Given the description of an element on the screen output the (x, y) to click on. 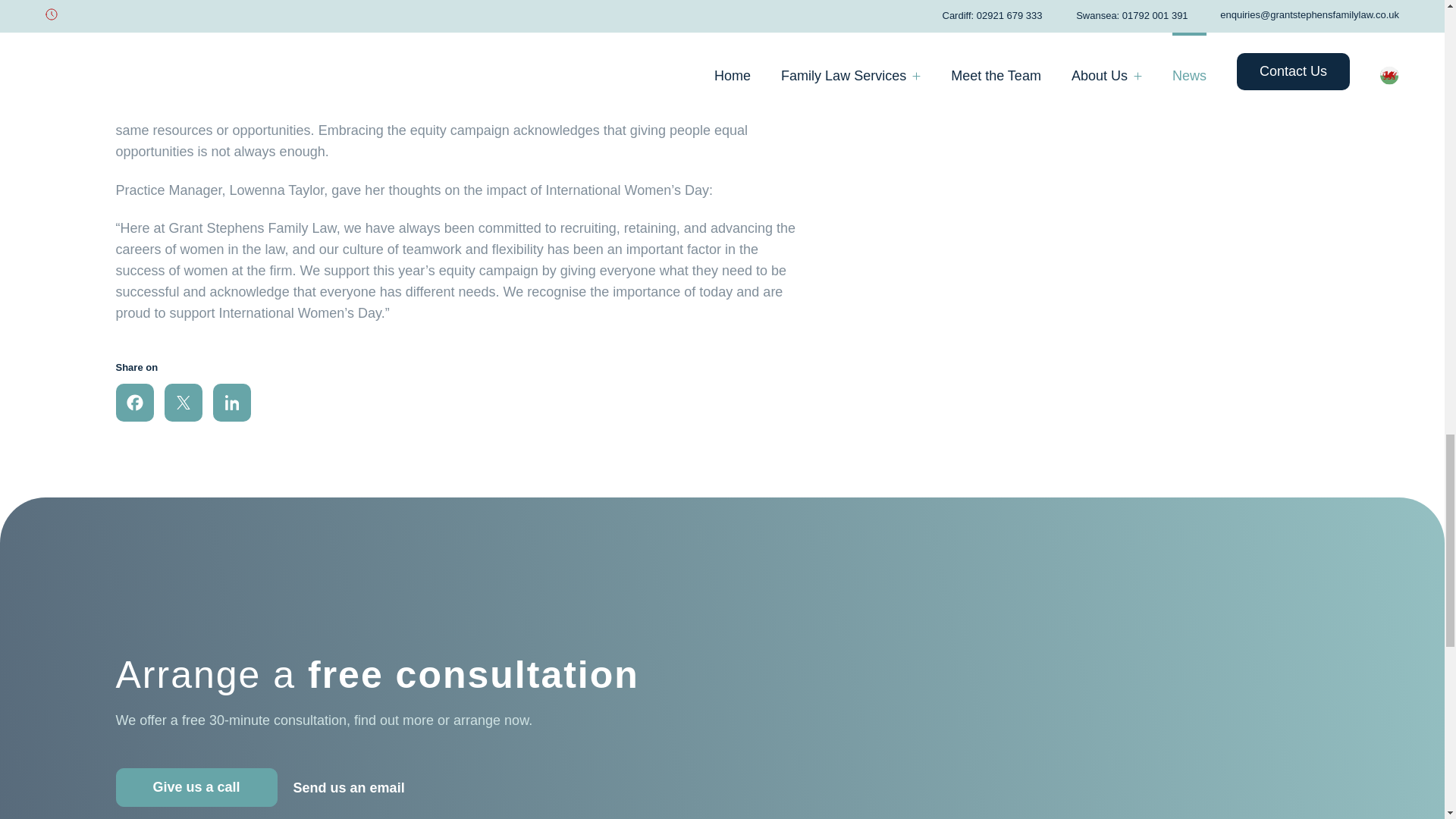
Share on Facebook (133, 402)
Share on LinkedIn (231, 402)
Share on Twitter (182, 402)
